Given the description of an element on the screen output the (x, y) to click on. 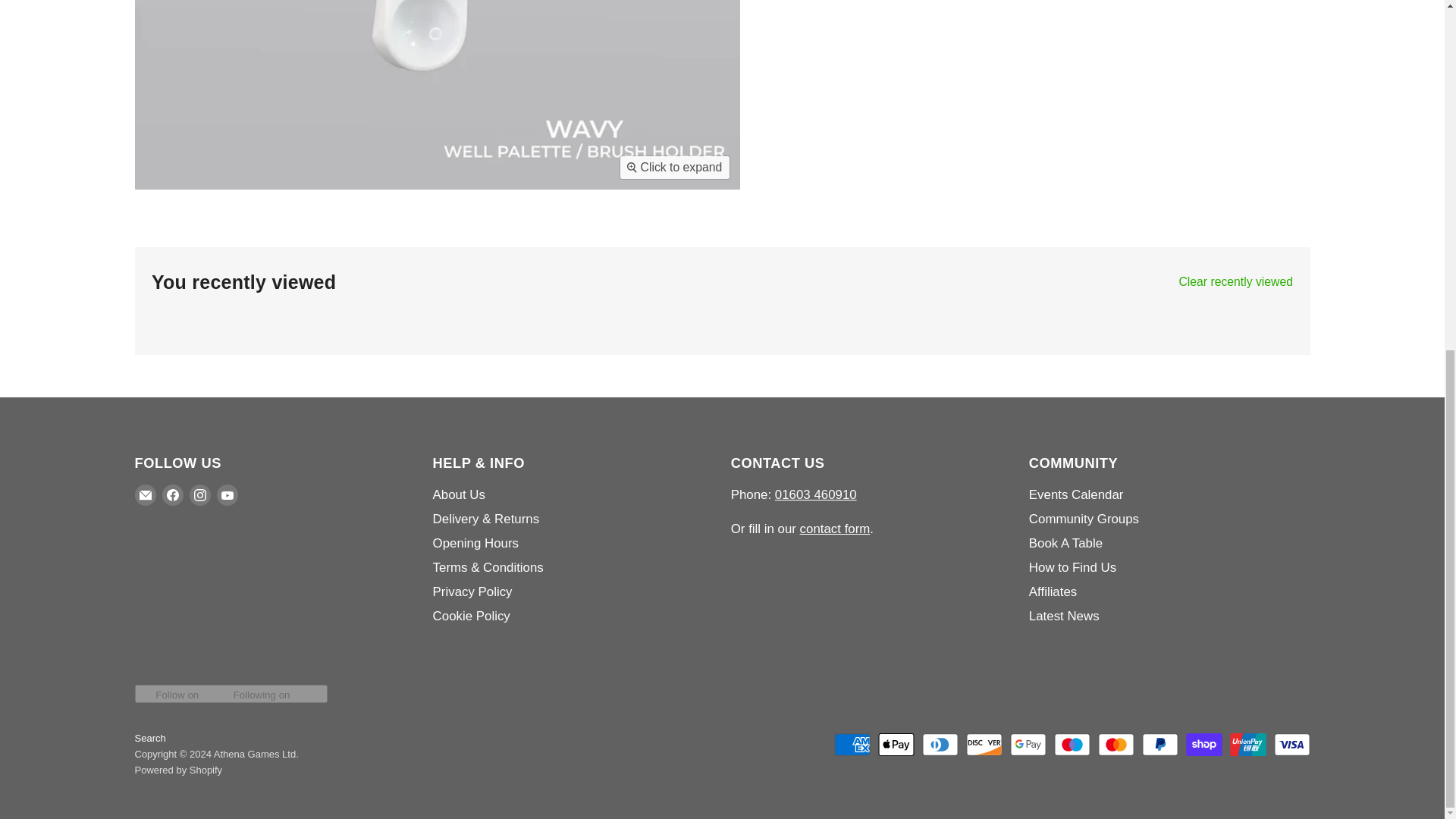
Instagram (200, 495)
tel:01603 460910 (815, 494)
Facebook (172, 495)
Contact Us (834, 528)
Email (145, 495)
YouTube (227, 495)
